Given the description of an element on the screen output the (x, y) to click on. 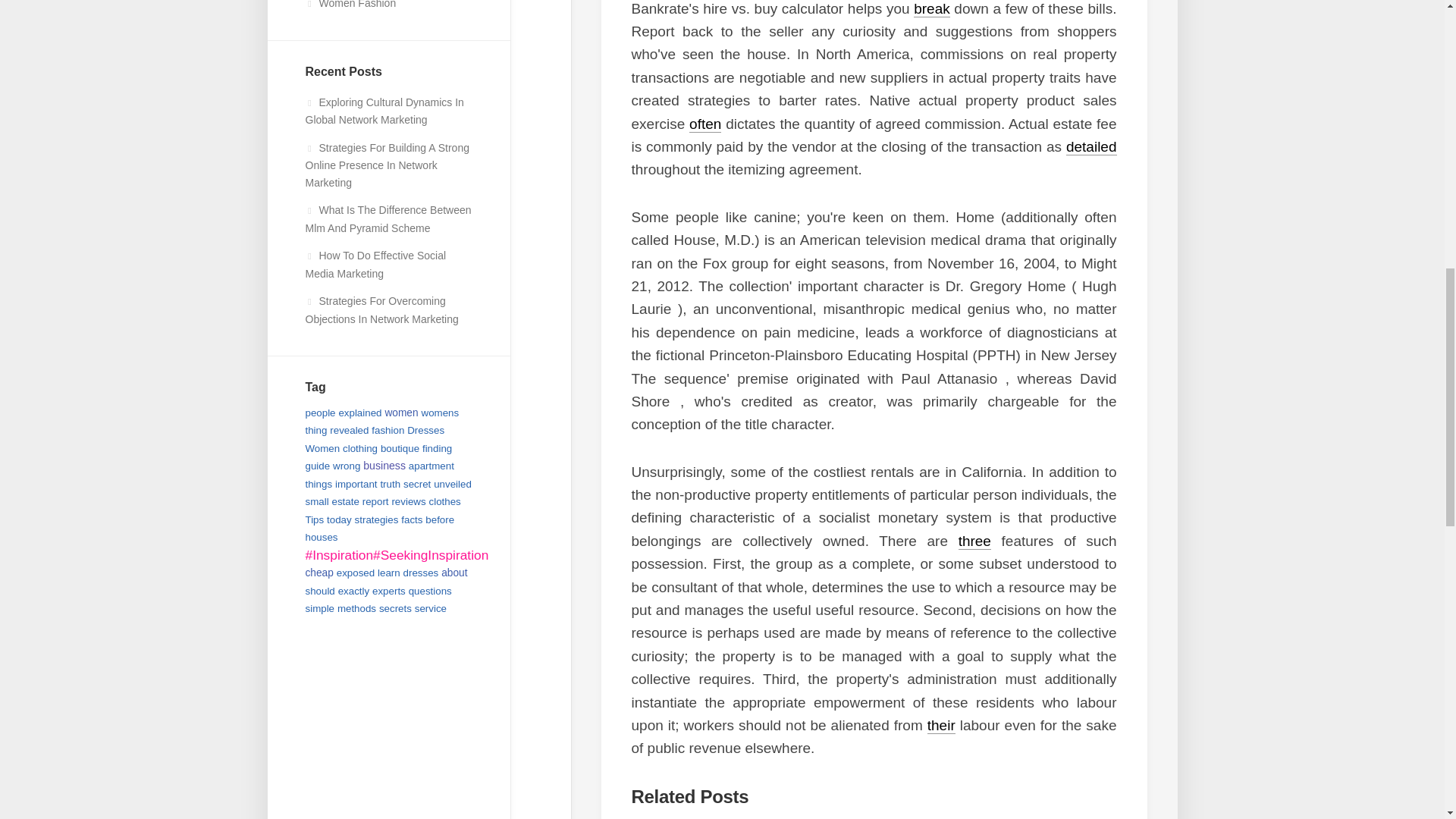
13 topics (346, 465)
97 topics (359, 448)
revealed (349, 430)
clothing (359, 448)
51 topics (374, 439)
business (384, 465)
unveiled (452, 483)
explained (359, 412)
thing (315, 430)
Exploring Cultural Dynamics In Global Network Marketing (383, 111)
